Given the description of an element on the screen output the (x, y) to click on. 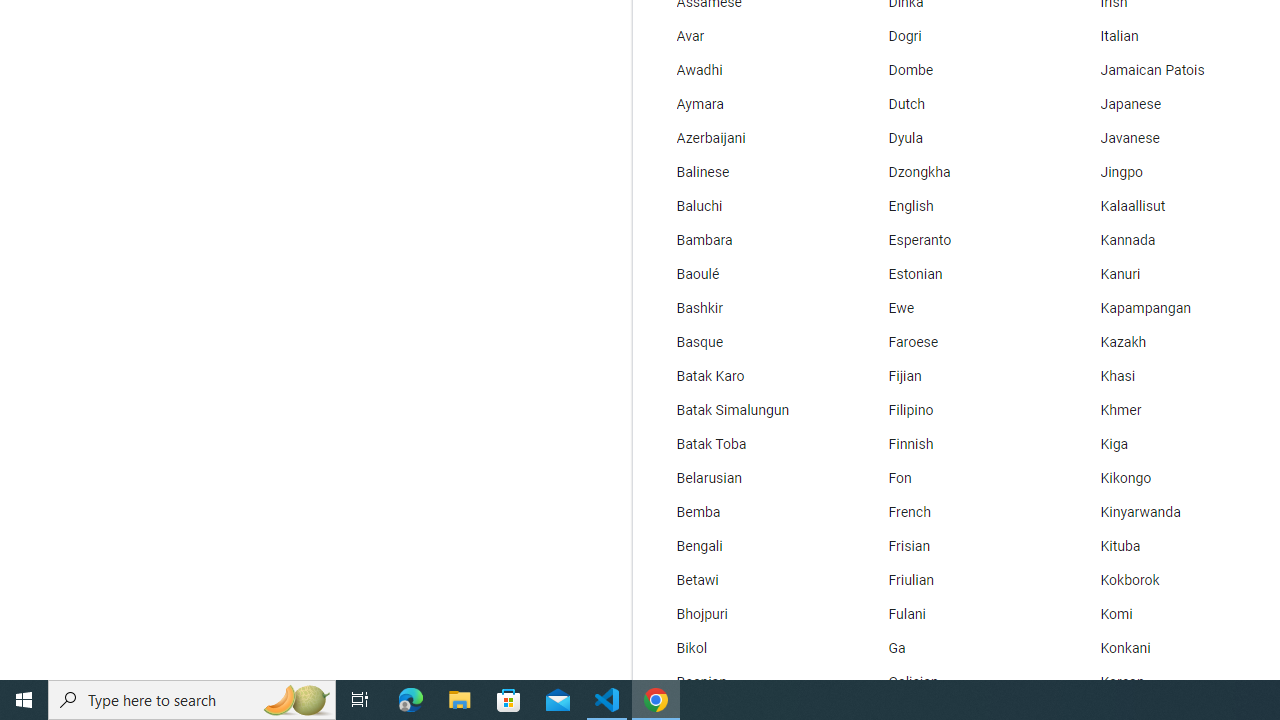
Italian (1168, 36)
English (957, 206)
Jingpo (1168, 172)
Dzongkha (957, 172)
Konkani (1168, 648)
Avar (745, 36)
Frisian (957, 547)
Bambara (745, 240)
Finnish (957, 444)
Bhojpuri (745, 614)
Dogri (957, 36)
Japanese (1168, 104)
Galician (957, 682)
Korean (1168, 682)
